Given the description of an element on the screen output the (x, y) to click on. 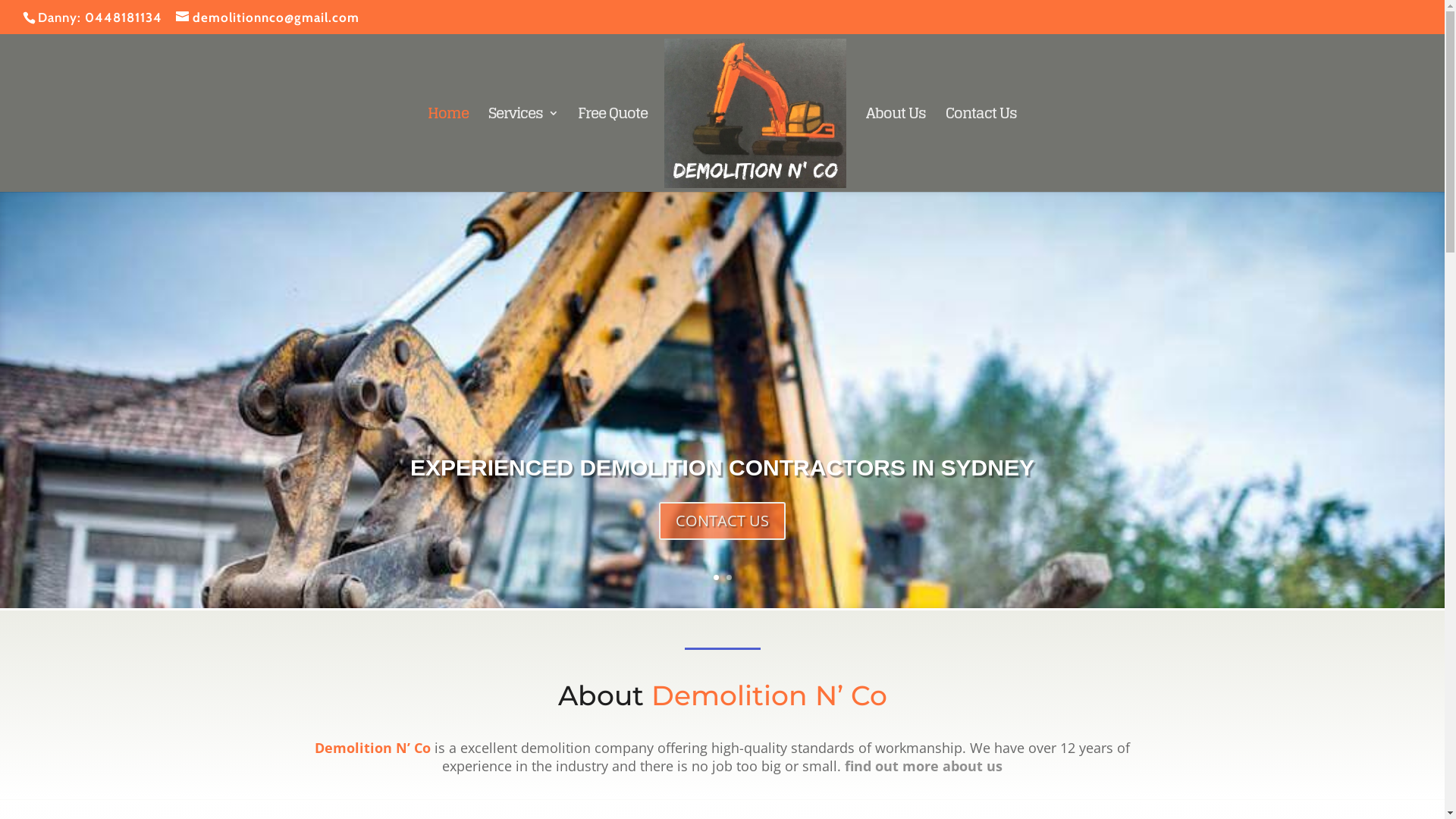
0448181134 Element type: text (123, 17)
find out more about us Element type: text (923, 765)
Contact Us Element type: text (980, 149)
1 Element type: text (715, 577)
EXPERIENCED DEMOLITION CONTRACTORS IN SYDNEY Element type: text (722, 467)
demolitionnco@gmail.com Element type: text (267, 17)
Free Quote Element type: text (612, 149)
About Us Element type: text (895, 149)
Home Element type: text (447, 149)
2 Element type: text (728, 577)
Services Element type: text (523, 149)
CONTACT US Element type: text (721, 520)
